Given the description of an element on the screen output the (x, y) to click on. 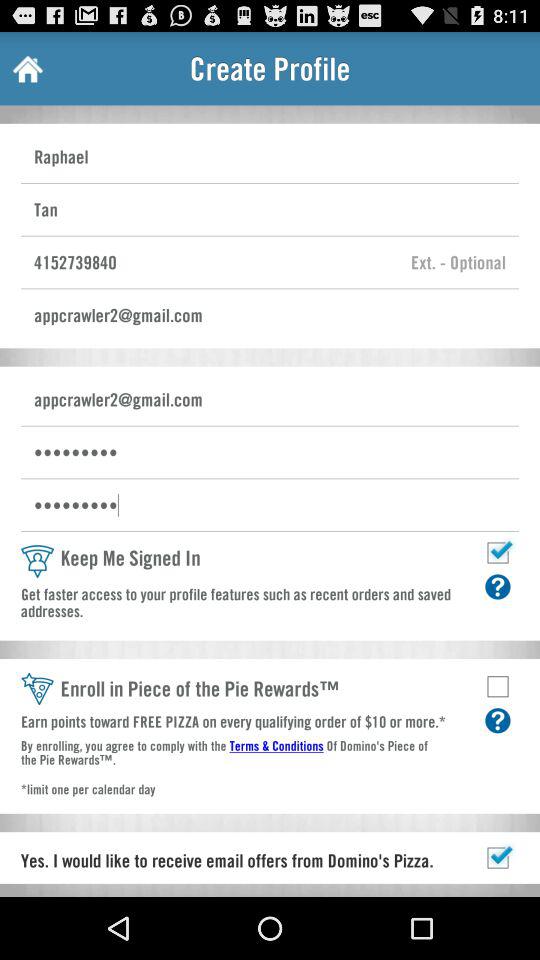
help (497, 586)
